Given the description of an element on the screen output the (x, y) to click on. 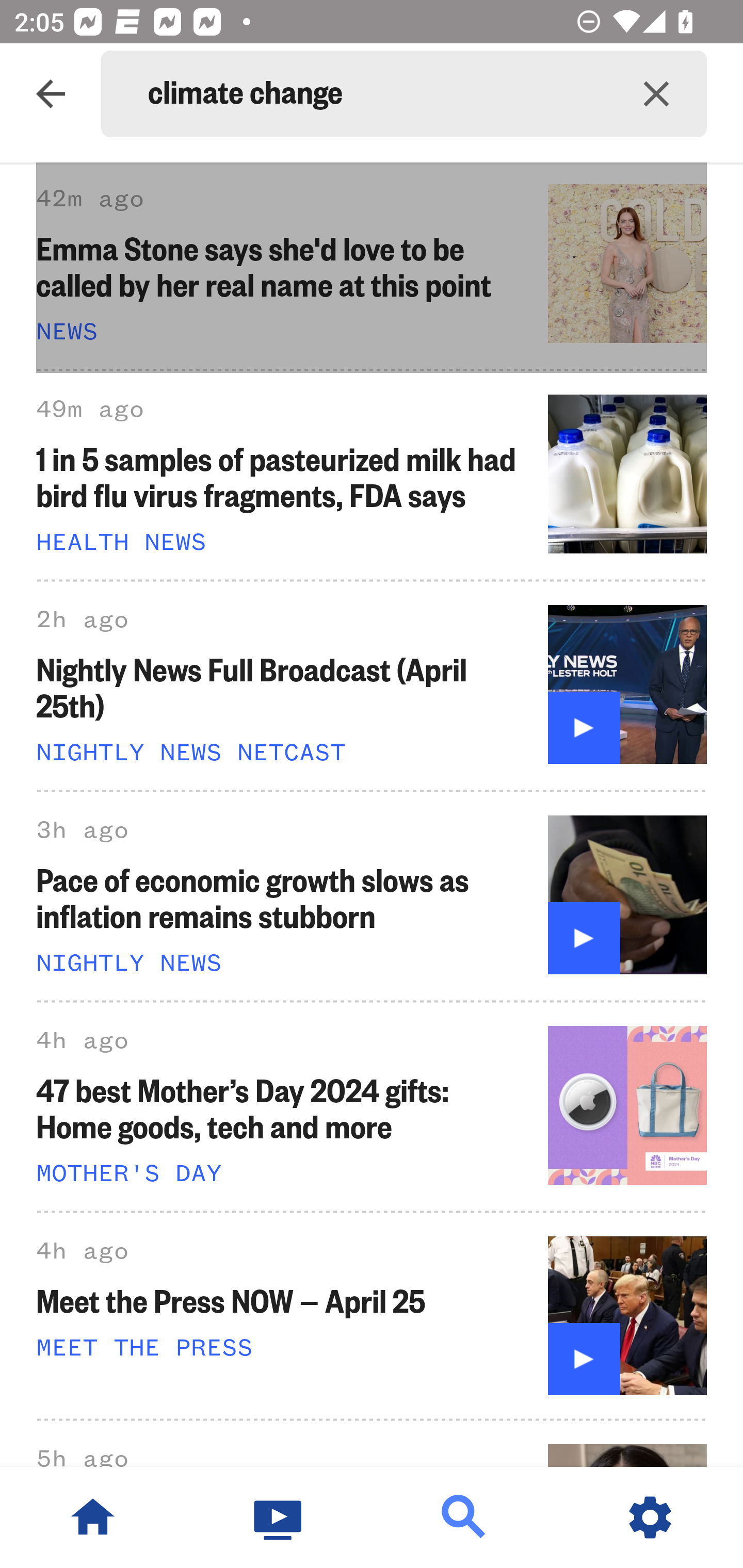
Navigate up (50, 93)
Clear query (656, 93)
climate change (376, 94)
NBC News Home (92, 1517)
Watch (278, 1517)
Settings (650, 1517)
